Given the description of an element on the screen output the (x, y) to click on. 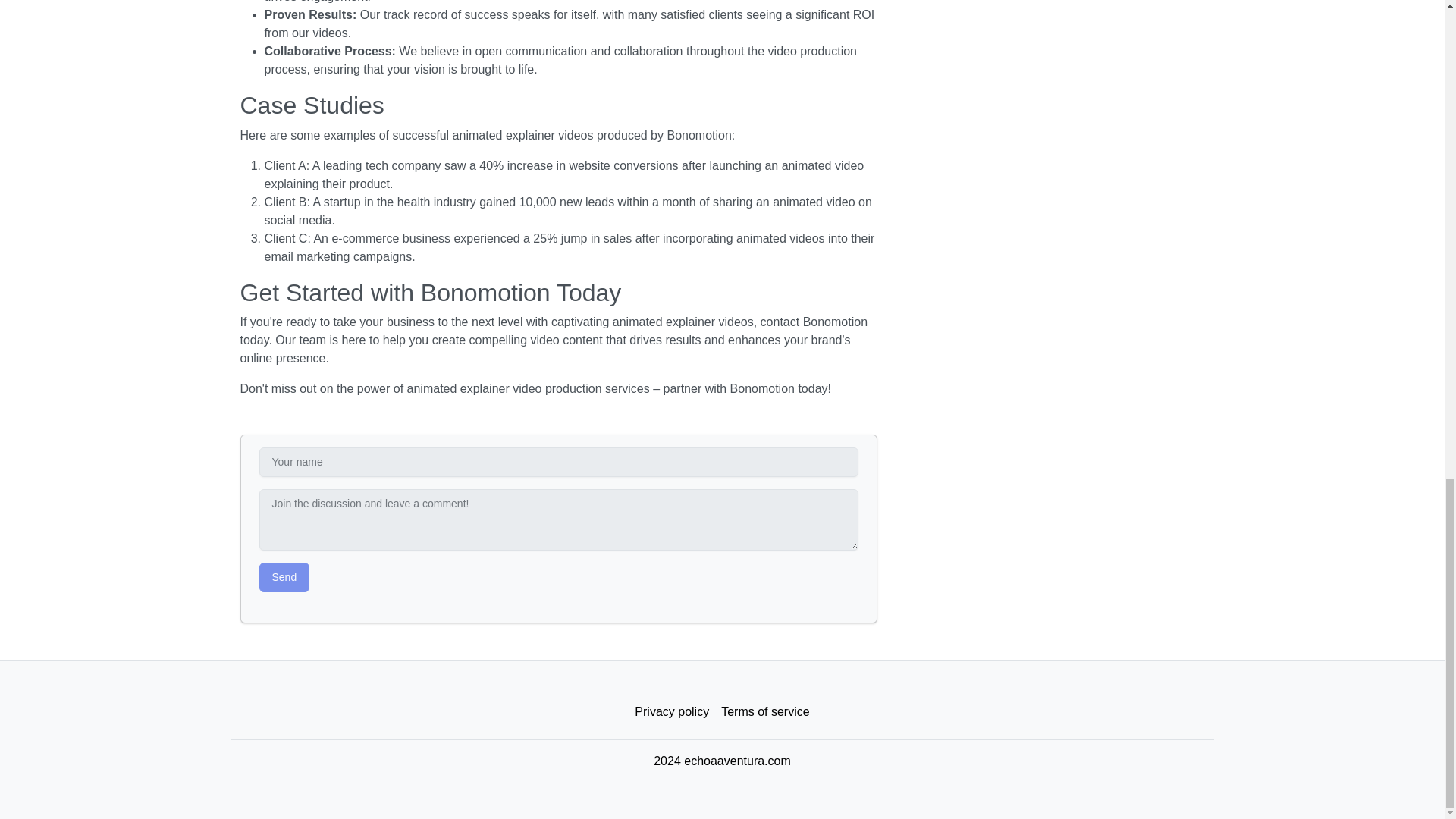
Privacy policy (671, 711)
Terms of service (764, 711)
Send (284, 577)
Send (284, 577)
